Given the description of an element on the screen output the (x, y) to click on. 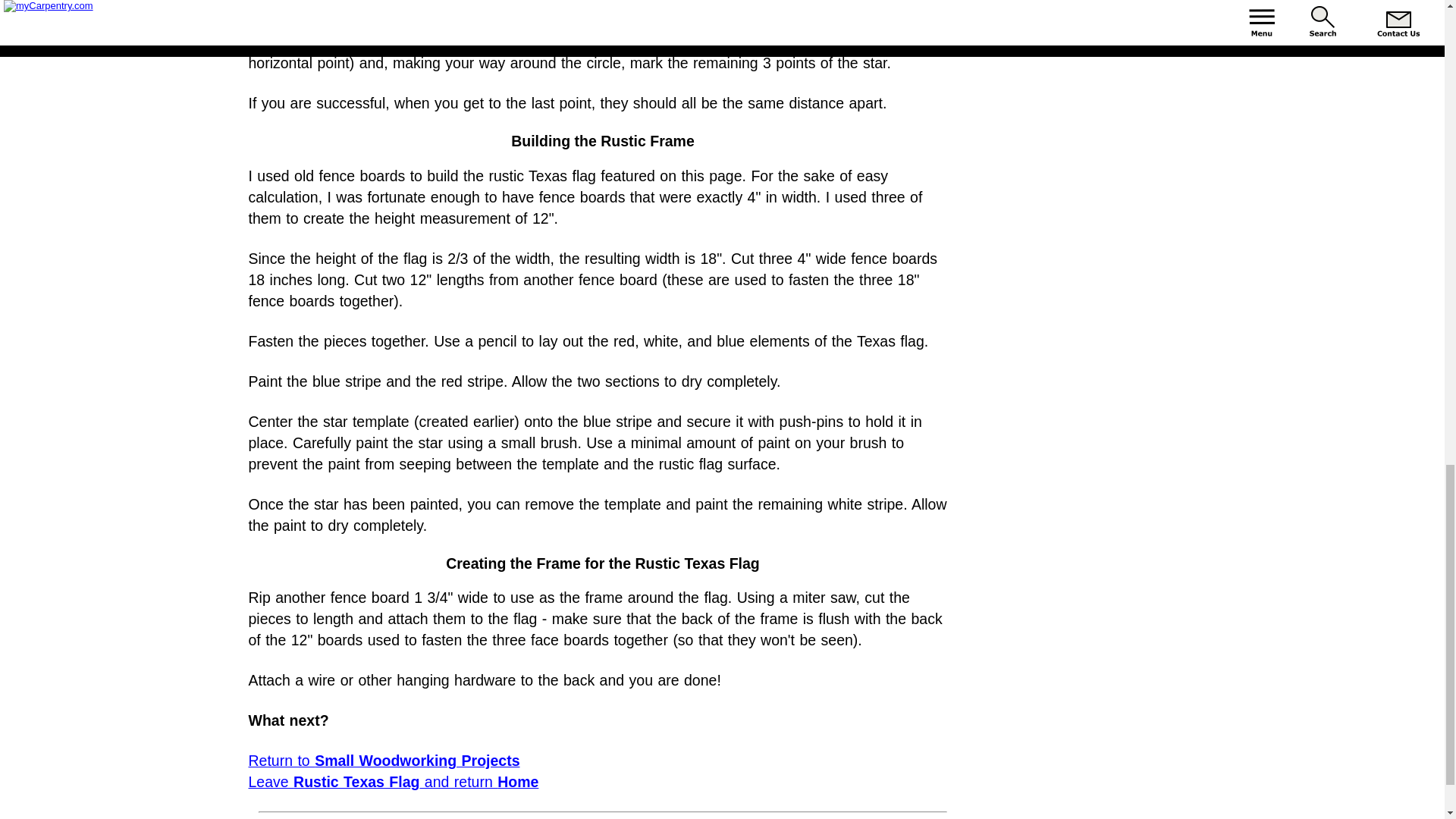
Leave Rustic Texas Flag and return Home (393, 781)
Return to Small Woodworking Projects (383, 760)
